Given the description of an element on the screen output the (x, y) to click on. 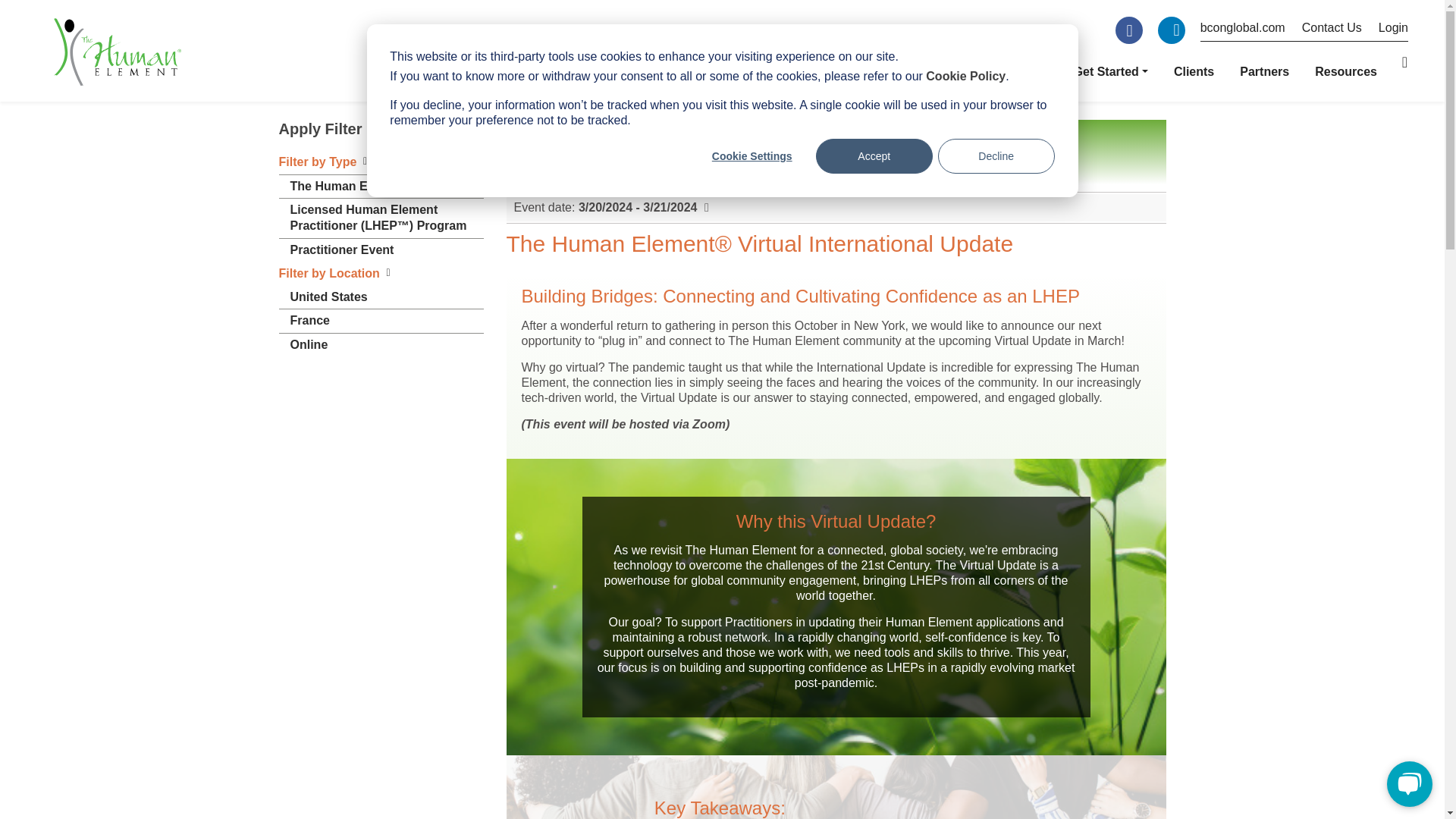
Clients (1193, 71)
What is The Human Element (629, 71)
Login (1384, 31)
France (309, 320)
Login (1384, 31)
Filter by Location (329, 273)
Organizational Solutions (817, 71)
Practitioner Event (341, 250)
bconglobal.com (1242, 31)
Get Started (1111, 71)
Online (308, 344)
Partners (1264, 71)
Resources (1345, 71)
United States (327, 297)
Contact Us (1323, 31)
